Given the description of an element on the screen output the (x, y) to click on. 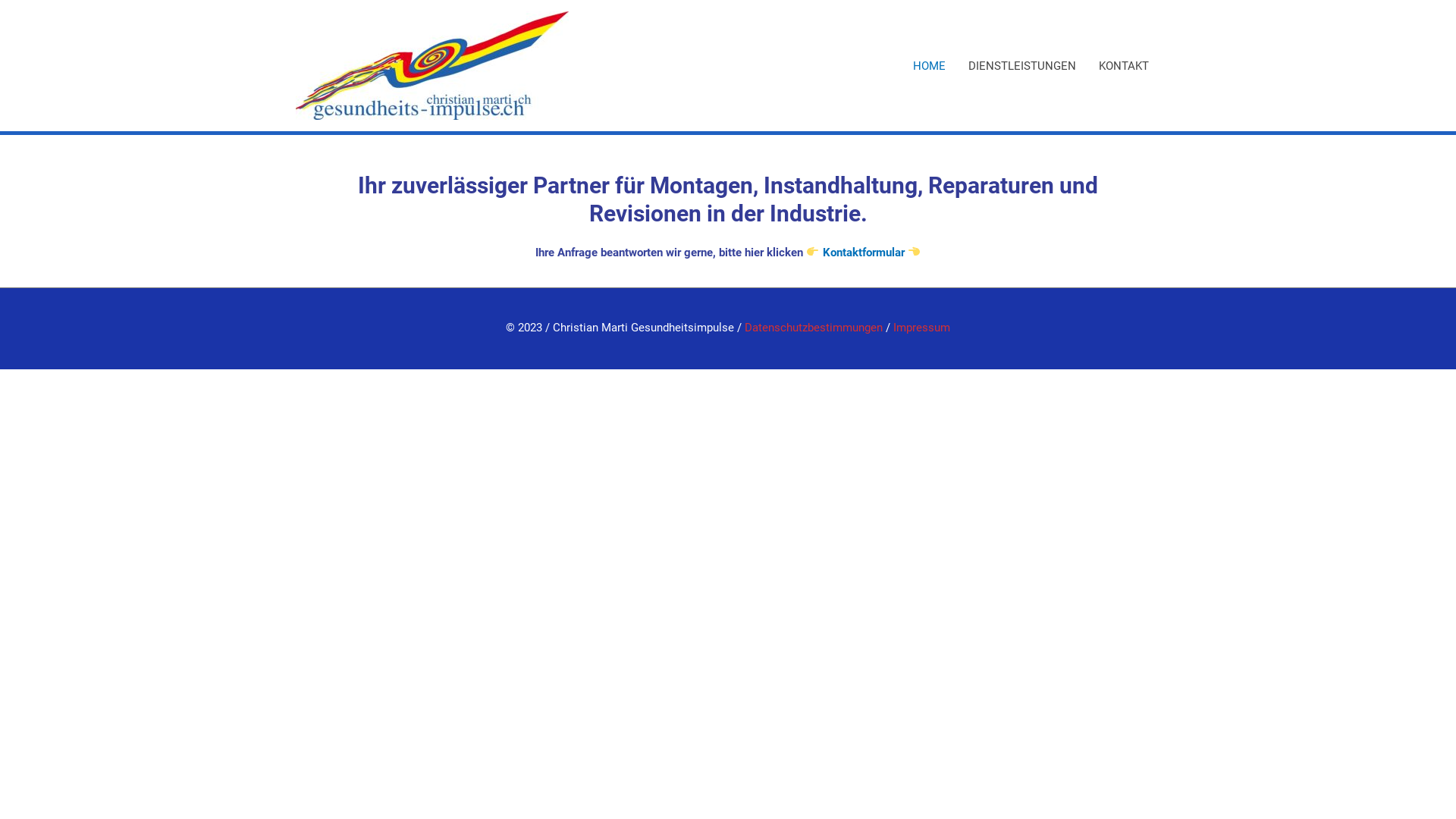
Impressum Element type: text (921, 327)
DIENSTLEISTUNGEN Element type: text (1022, 64)
Kontaktformular Element type: text (862, 252)
KONTAKT Element type: text (1123, 64)
Datenschutzbestimmungen Element type: text (813, 327)
HOME Element type: text (929, 64)
